Given the description of an element on the screen output the (x, y) to click on. 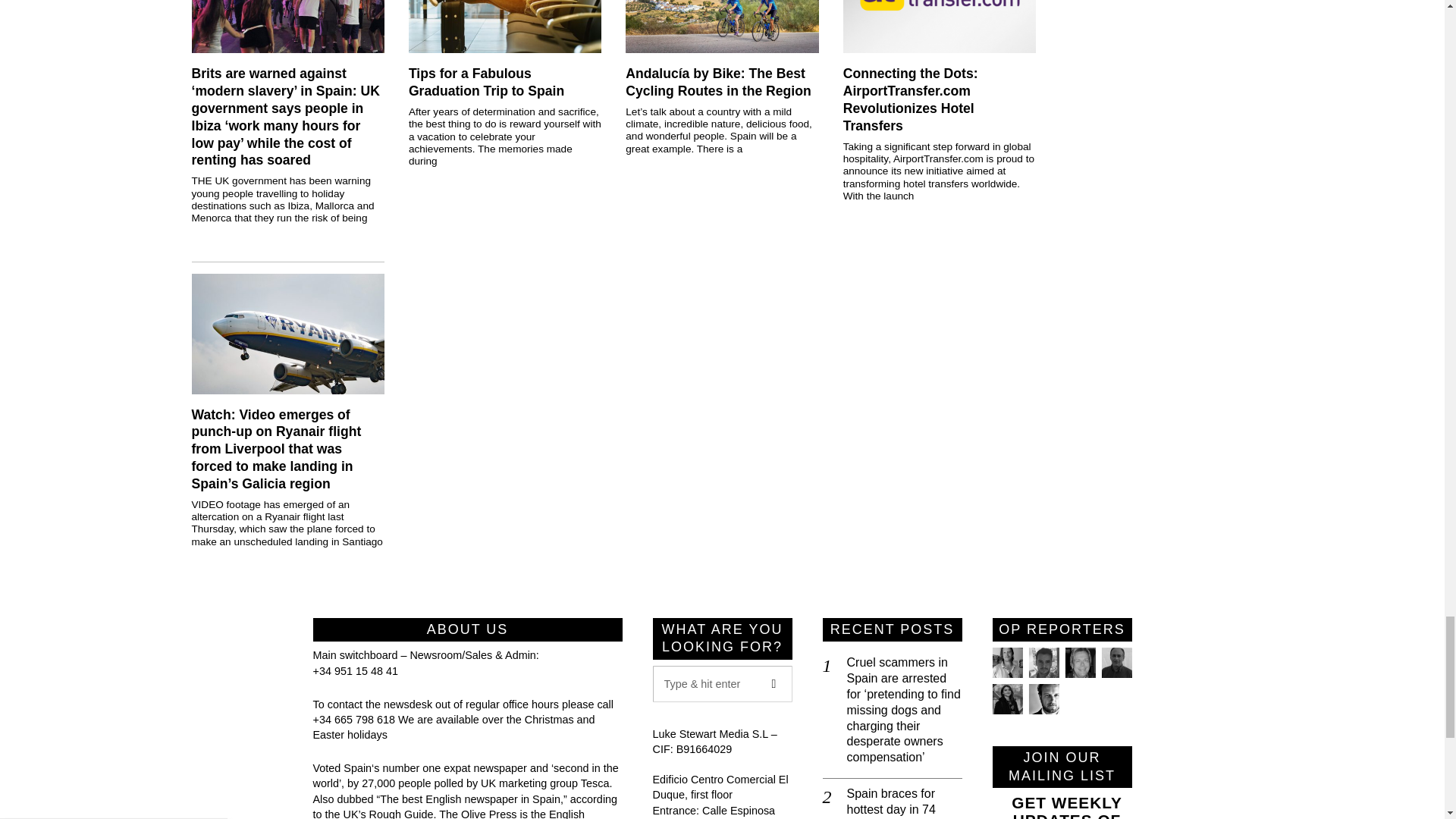
Alex Trelinski (1079, 662)
Walter Finch (1042, 698)
Laurence Dollimore (1042, 662)
Go (773, 683)
Yzabelle Bostyn (1006, 698)
Dilip Kuner (1115, 662)
